Given the description of an element on the screen output the (x, y) to click on. 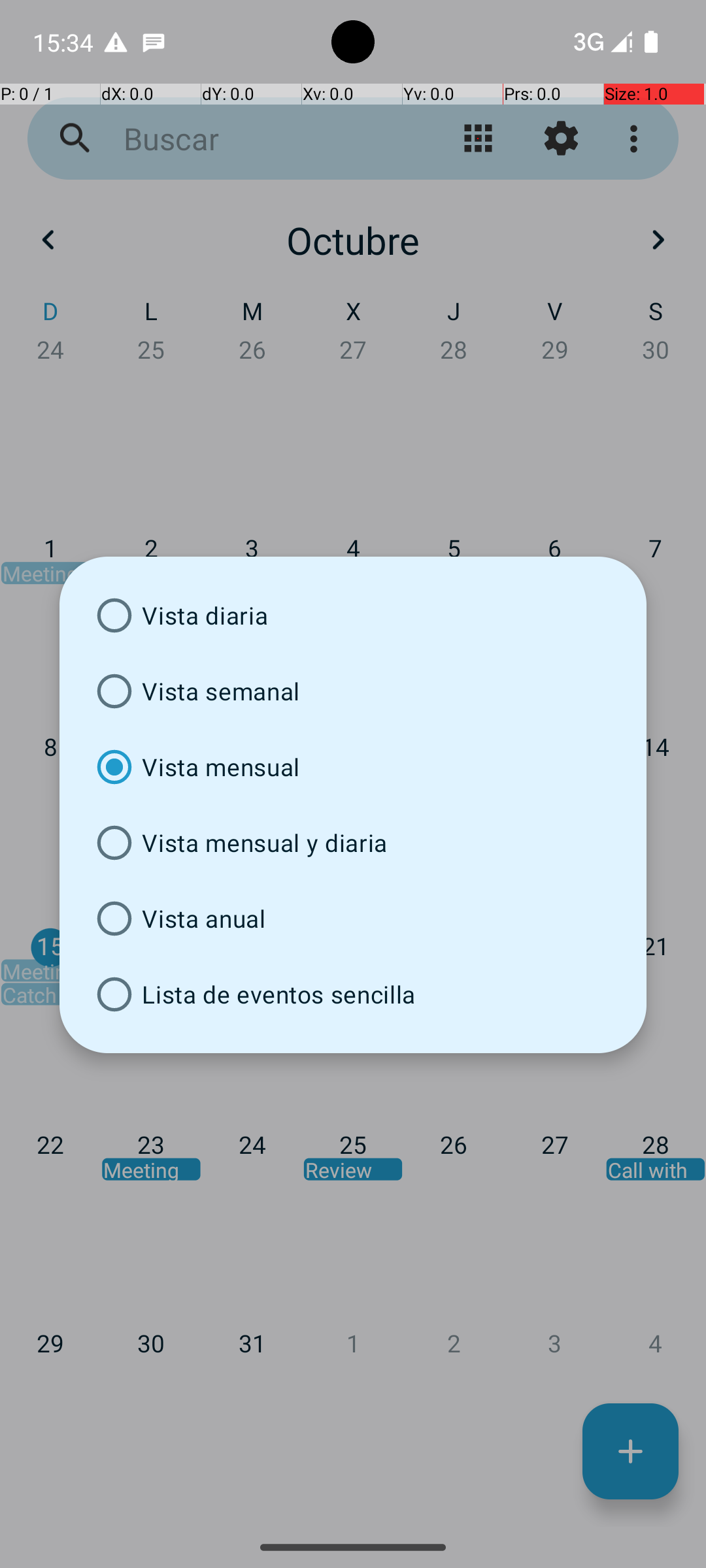
Vista diaria Element type: android.widget.RadioButton (352, 615)
Vista semanal Element type: android.widget.RadioButton (352, 691)
Vista mensual Element type: android.widget.RadioButton (352, 766)
Vista mensual y diaria Element type: android.widget.RadioButton (352, 842)
Vista anual Element type: android.widget.RadioButton (352, 918)
Lista de eventos sencilla Element type: android.widget.RadioButton (352, 994)
